Given the description of an element on the screen output the (x, y) to click on. 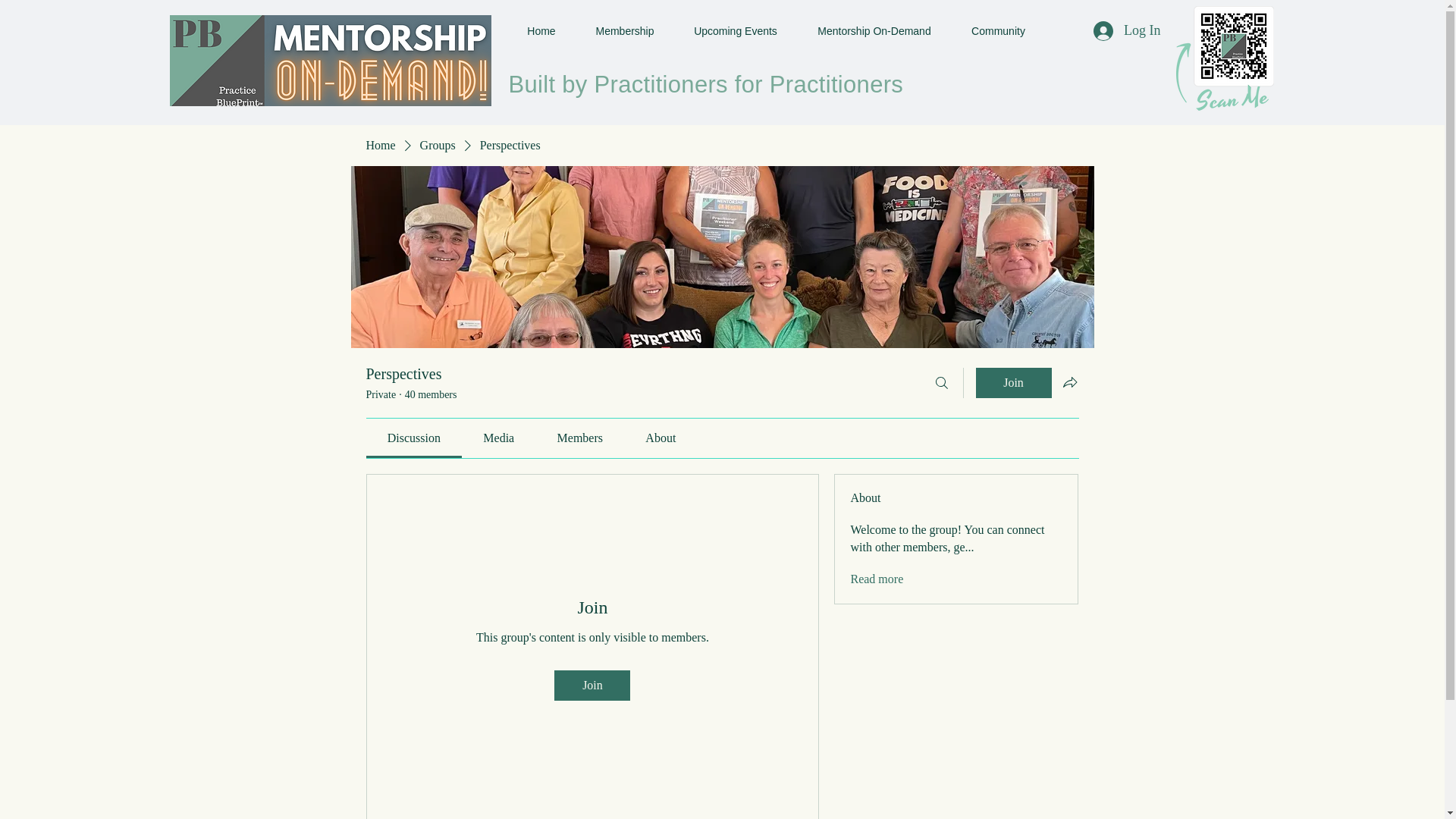
Home (541, 30)
Log In (1127, 30)
Community (998, 30)
Join (592, 685)
Mentorship On-Demand (874, 30)
Upcoming Events (735, 30)
Home (379, 145)
Groups (437, 145)
Membership (624, 30)
Read more (876, 579)
